Given the description of an element on the screen output the (x, y) to click on. 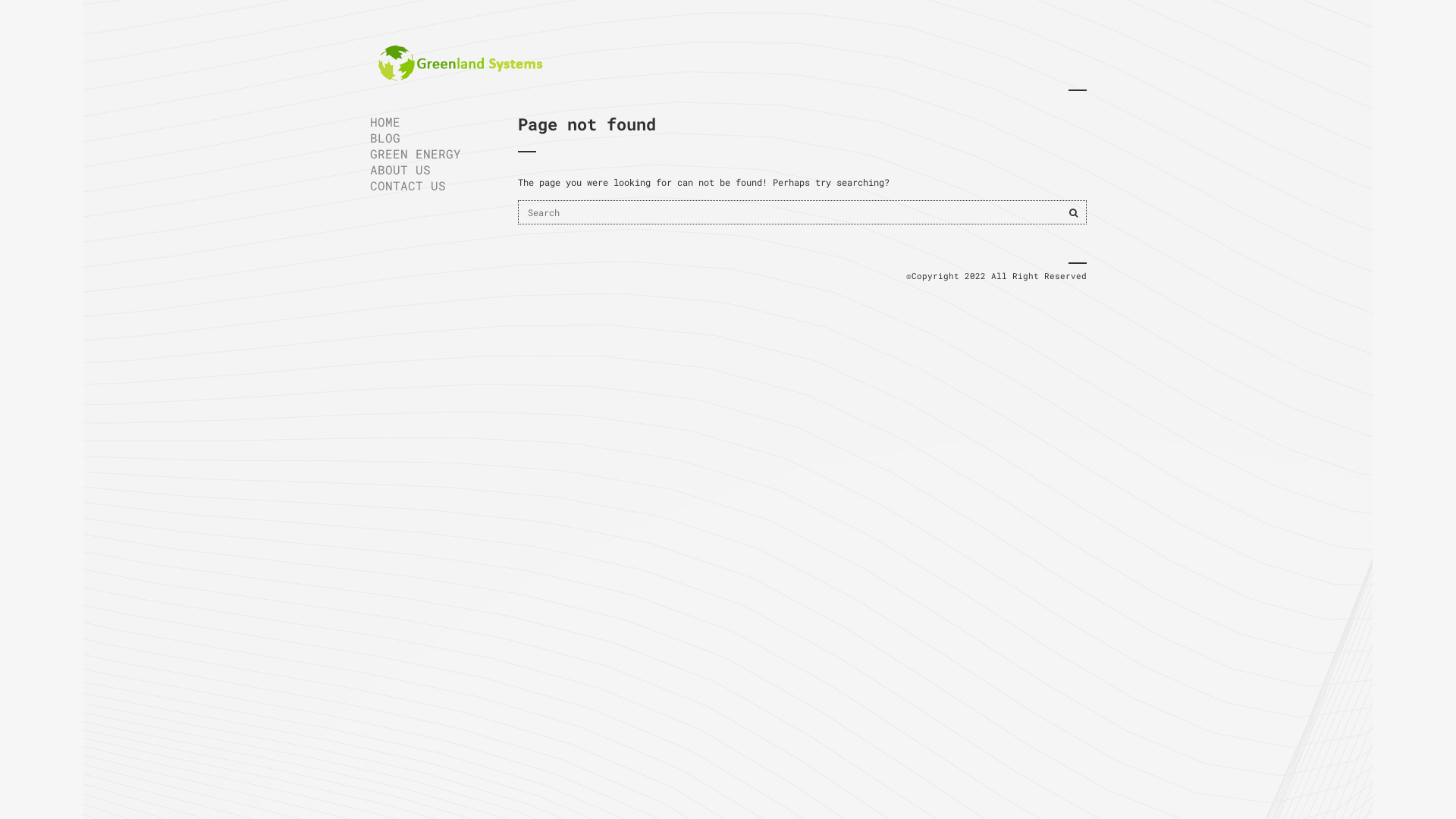
CONTACT US Element type: text (432, 185)
BLOG Element type: text (432, 137)
Search Element type: text (1073, 212)
GREEN ENERGY Element type: text (432, 153)
HOME Element type: text (432, 121)
ABOUT US Element type: text (432, 169)
